Given the description of an element on the screen output the (x, y) to click on. 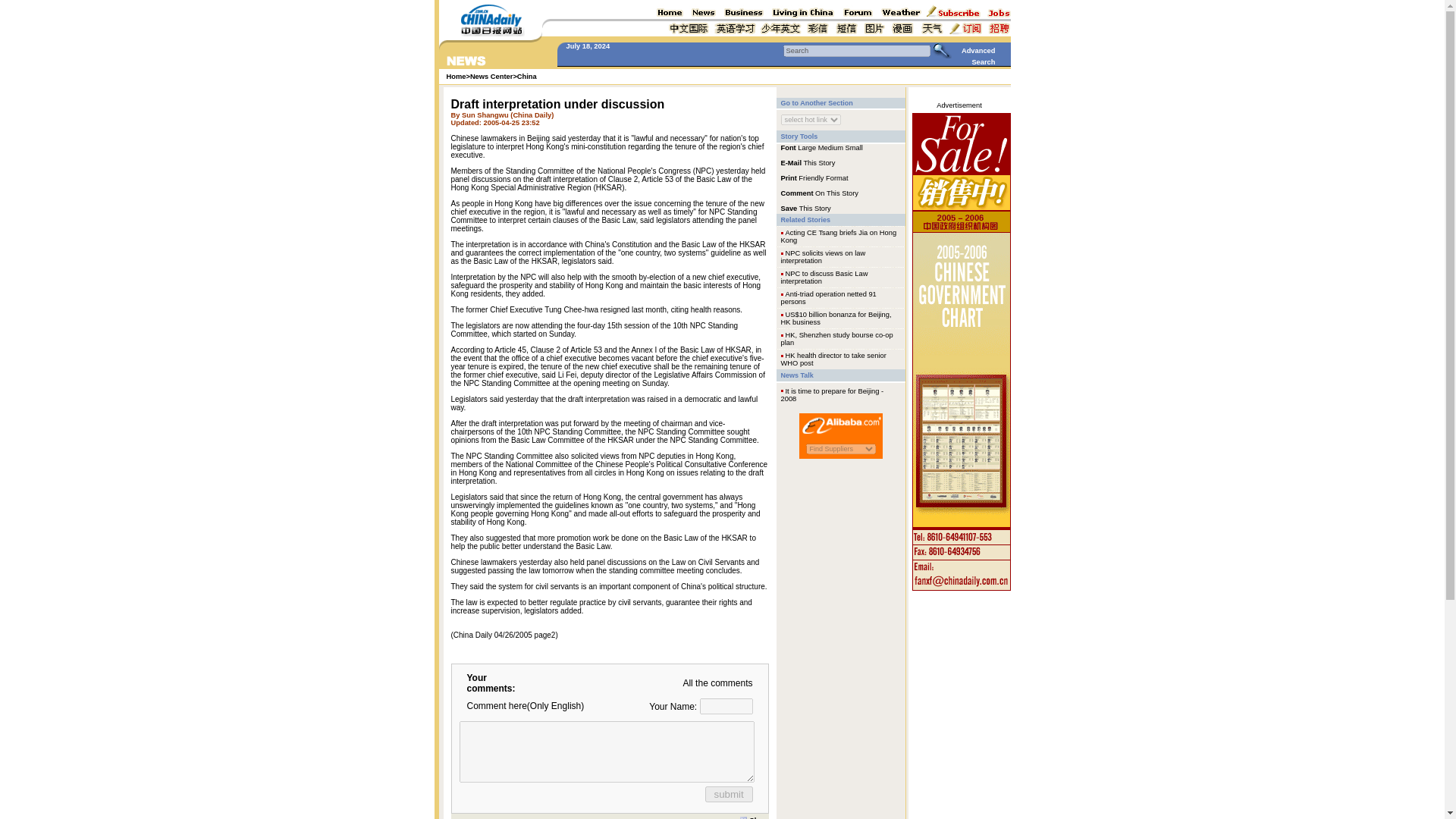
Print Friendly Format (814, 176)
Medium (830, 147)
Save This Story (805, 207)
 submit  (728, 793)
Search (856, 50)
NPC to discuss Basic Law interpretation (823, 277)
Comment On This Story (819, 192)
It is time to prepare for Beijing - 2008 (831, 394)
HK health director to take senior WHO post (833, 359)
China (526, 76)
Anti-triad operation netted 91 persons (828, 297)
 submit  (728, 793)
Small (854, 147)
Advanced Search (977, 56)
Acting CE Tsang briefs Jia on Hong Kong (838, 236)
